Given the description of an element on the screen output the (x, y) to click on. 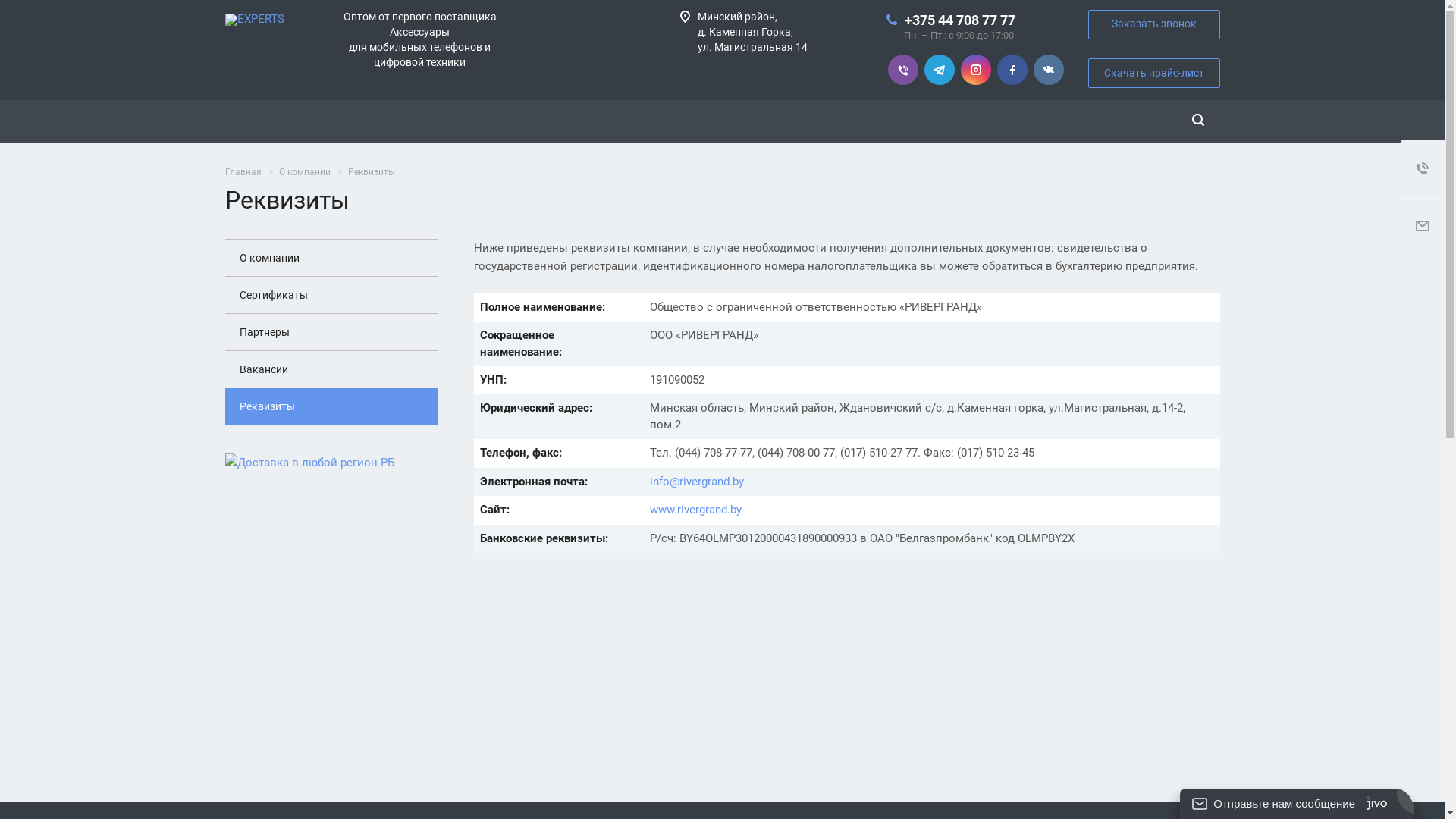
EXPERTS Element type: hover (253, 19)
Viber Element type: hover (902, 69)
www.rivergrand.by Element type: text (695, 509)
+375 44 708 77 77 Element type: text (958, 20)
Facebook Element type: hover (1011, 69)
Telegram Element type: hover (938, 69)
info@rivergrand.by Element type: text (696, 481)
Instagram Element type: hover (975, 69)
